Given the description of an element on the screen output the (x, y) to click on. 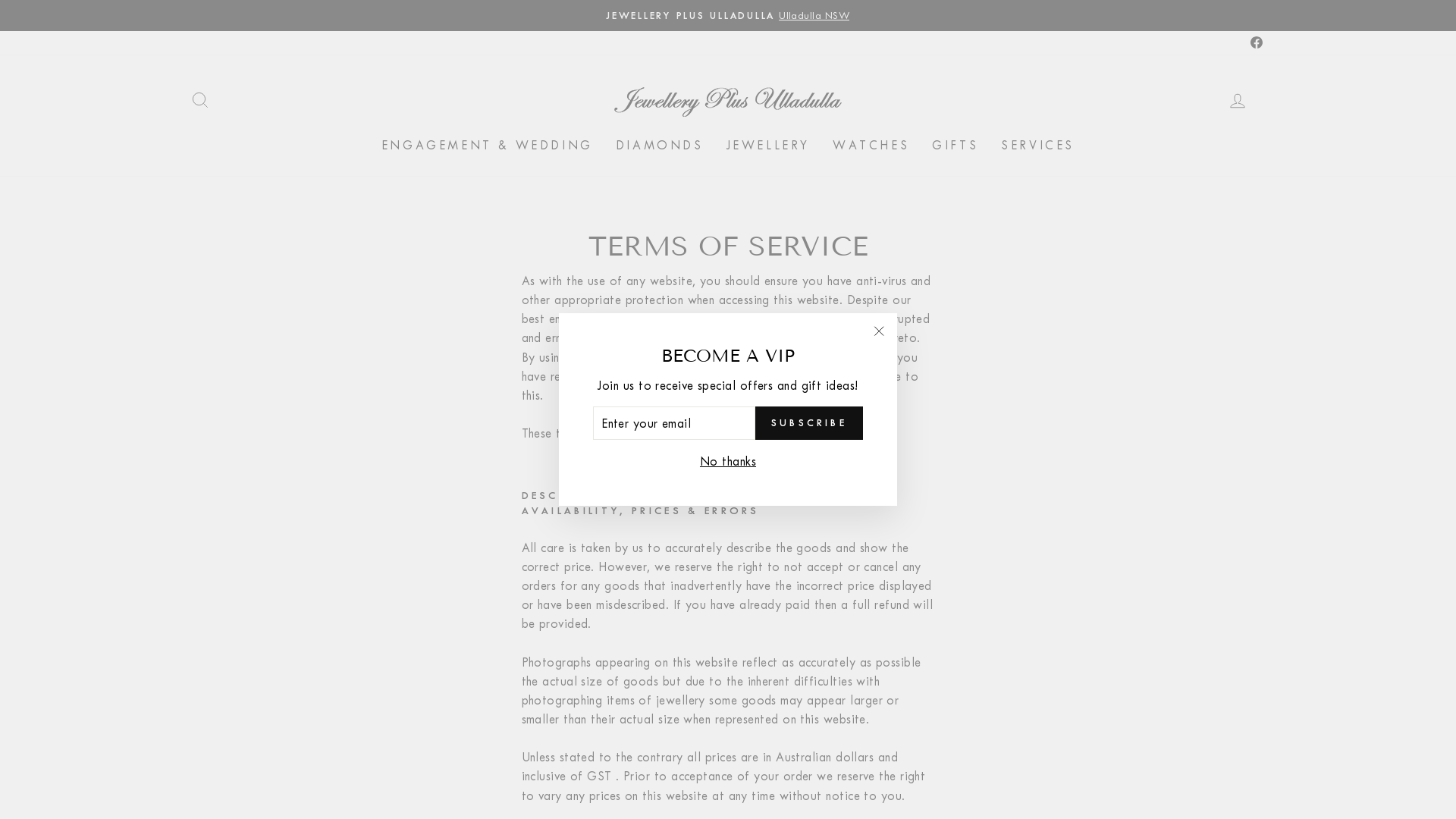
No thanks Element type: text (727, 461)
SERVICES Element type: text (1037, 144)
ENGAGEMENT & WEDDING Element type: text (487, 144)
JEWELLERY Element type: text (768, 144)
WATCHES Element type: text (870, 144)
Skip to content Element type: text (0, 0)
LOG IN Element type: text (1237, 99)
SEARCH Element type: text (199, 99)
JEWELLERY PLUS ULLADULLAUlladulla NSW Element type: text (727, 15)
Facebook Element type: text (1256, 42)
DIAMONDS Element type: text (659, 144)
GIFTS Element type: text (954, 144)
SUBSCRIBE Element type: text (808, 422)
"Close (esc)" Element type: text (878, 331)
